Given the description of an element on the screen output the (x, y) to click on. 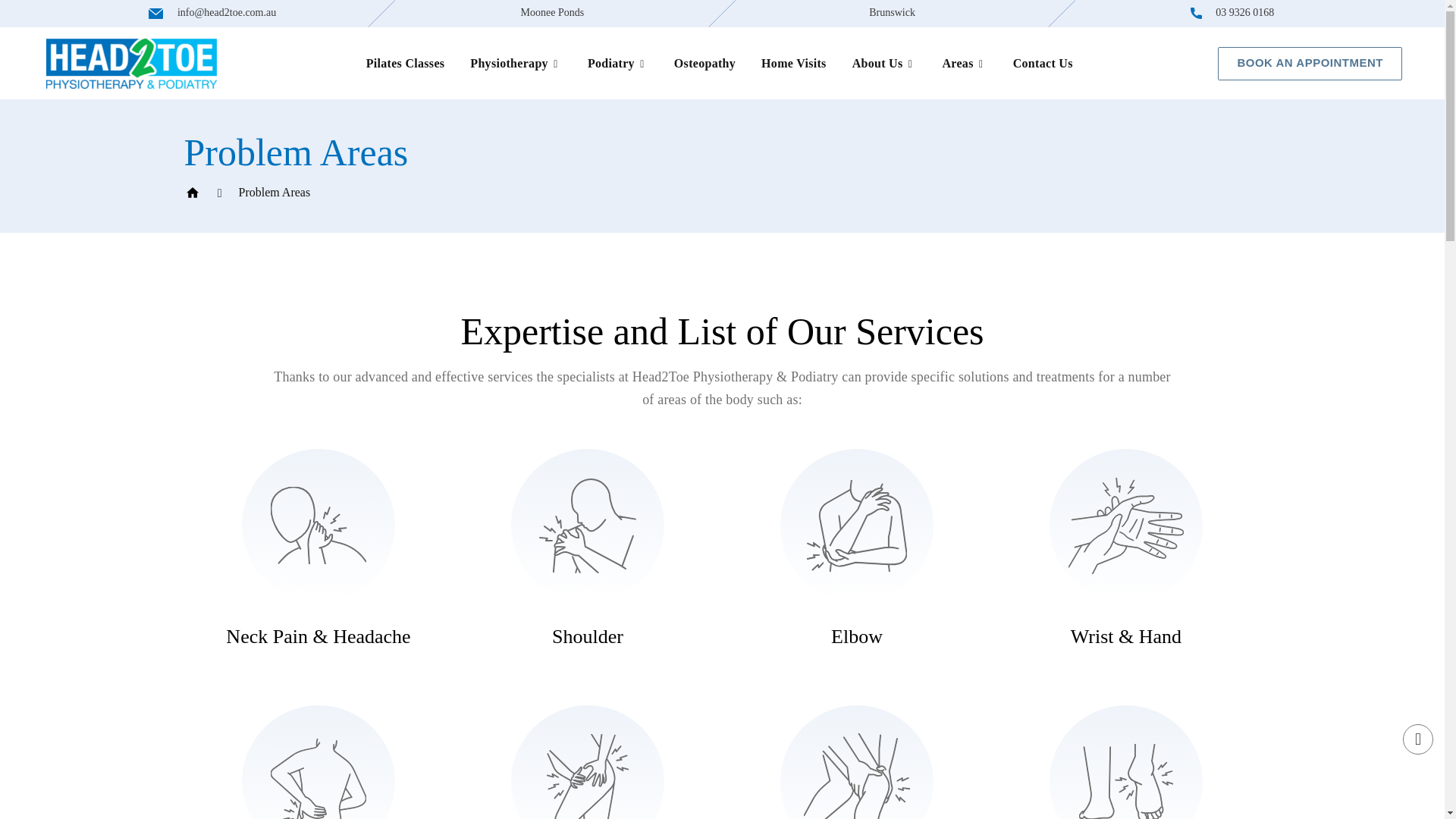
Physiotherapy (516, 62)
Home Visits (794, 62)
BOOK AN APPOINTMENT (1309, 63)
Pilates Classes (405, 62)
About Us (884, 62)
03 9326 0168 (1233, 12)
